Given the description of an element on the screen output the (x, y) to click on. 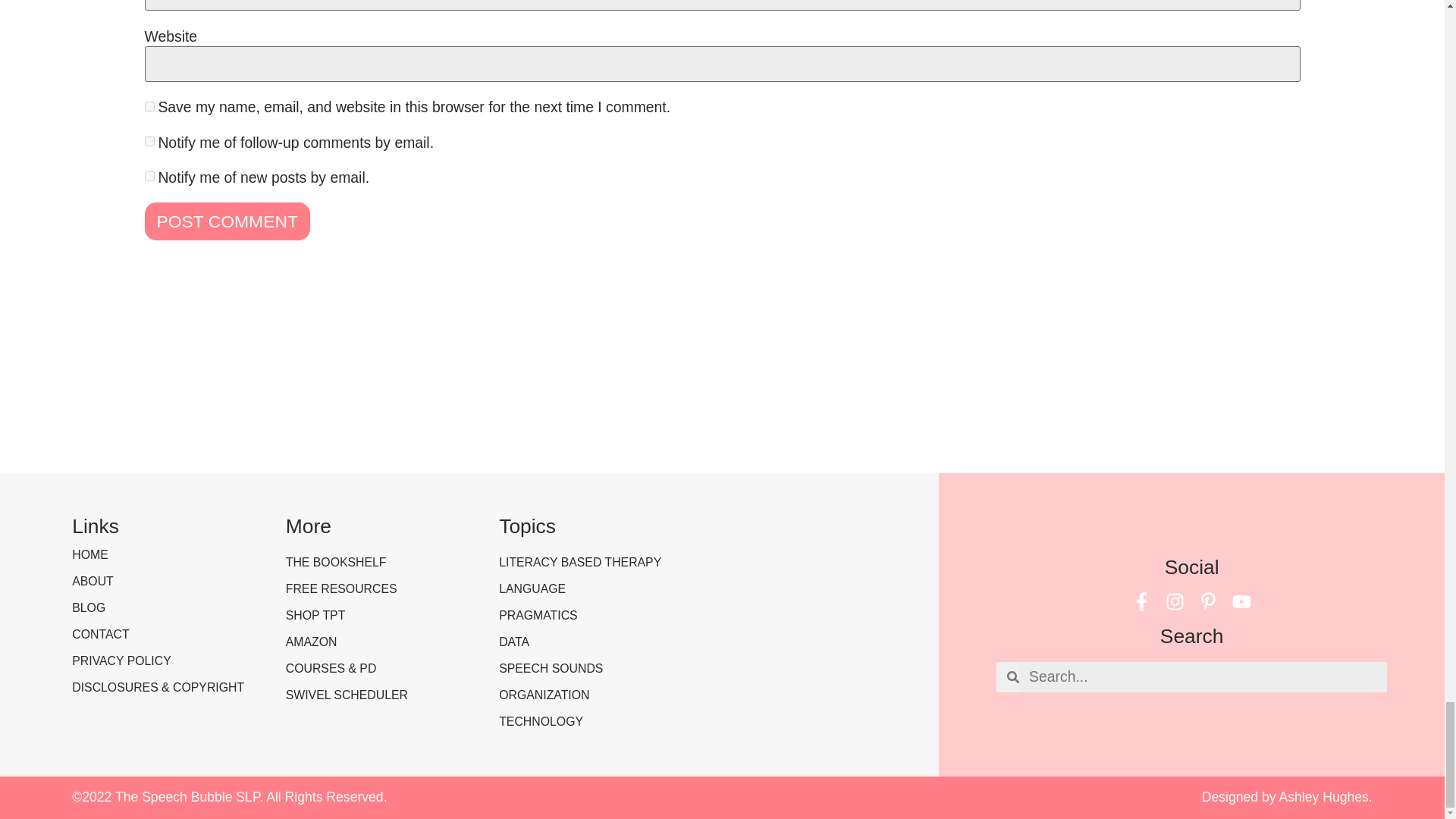
Post Comment (226, 221)
yes (149, 106)
subscribe (149, 141)
subscribe (149, 175)
